Given the description of an element on the screen output the (x, y) to click on. 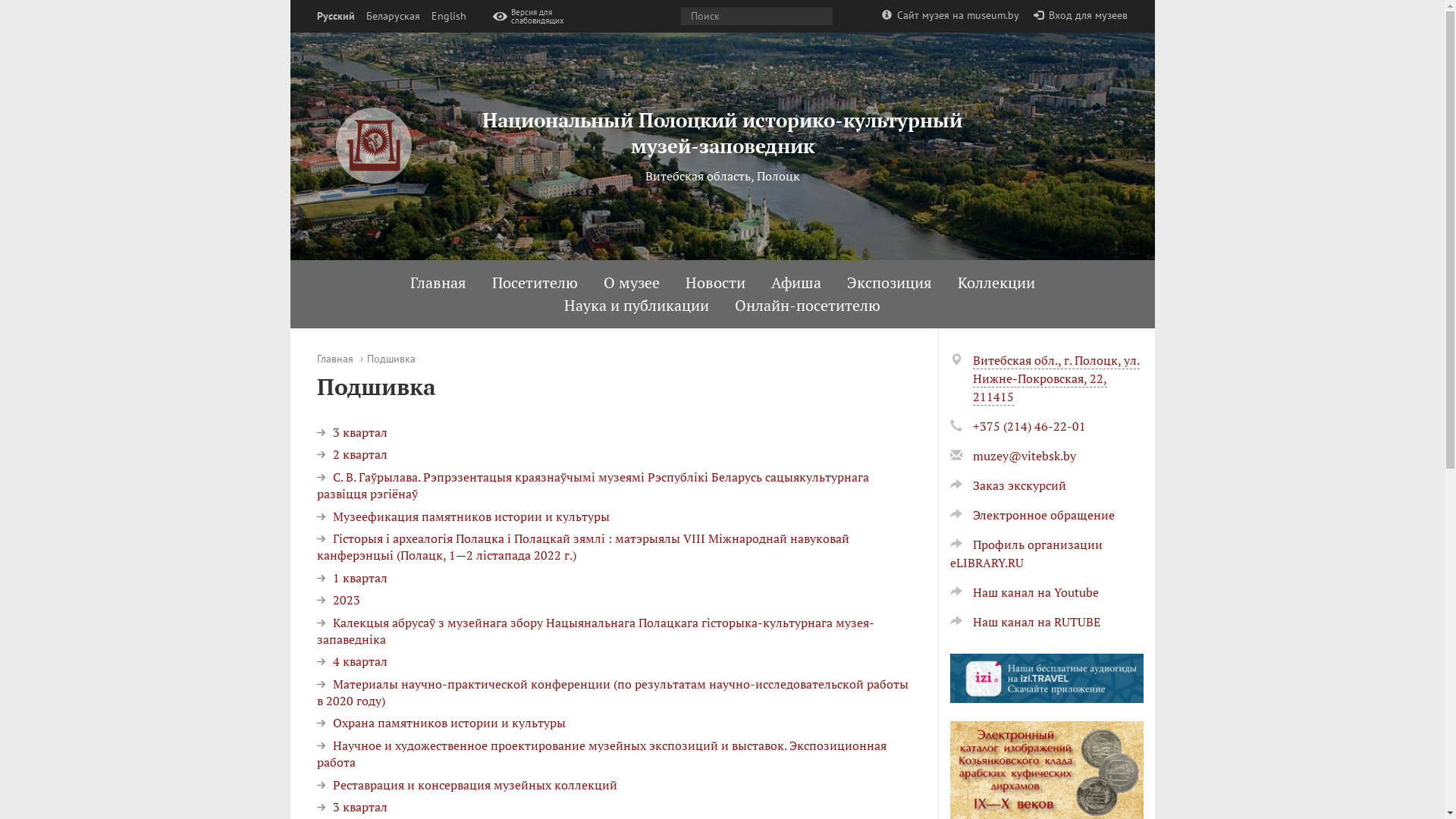
2023 Element type: text (338, 599)
muzey@vitebsk.by Element type: text (1023, 455)
+375 (214) 46-22-01 Element type: text (1028, 426)
English Element type: text (447, 16)
